Given the description of an element on the screen output the (x, y) to click on. 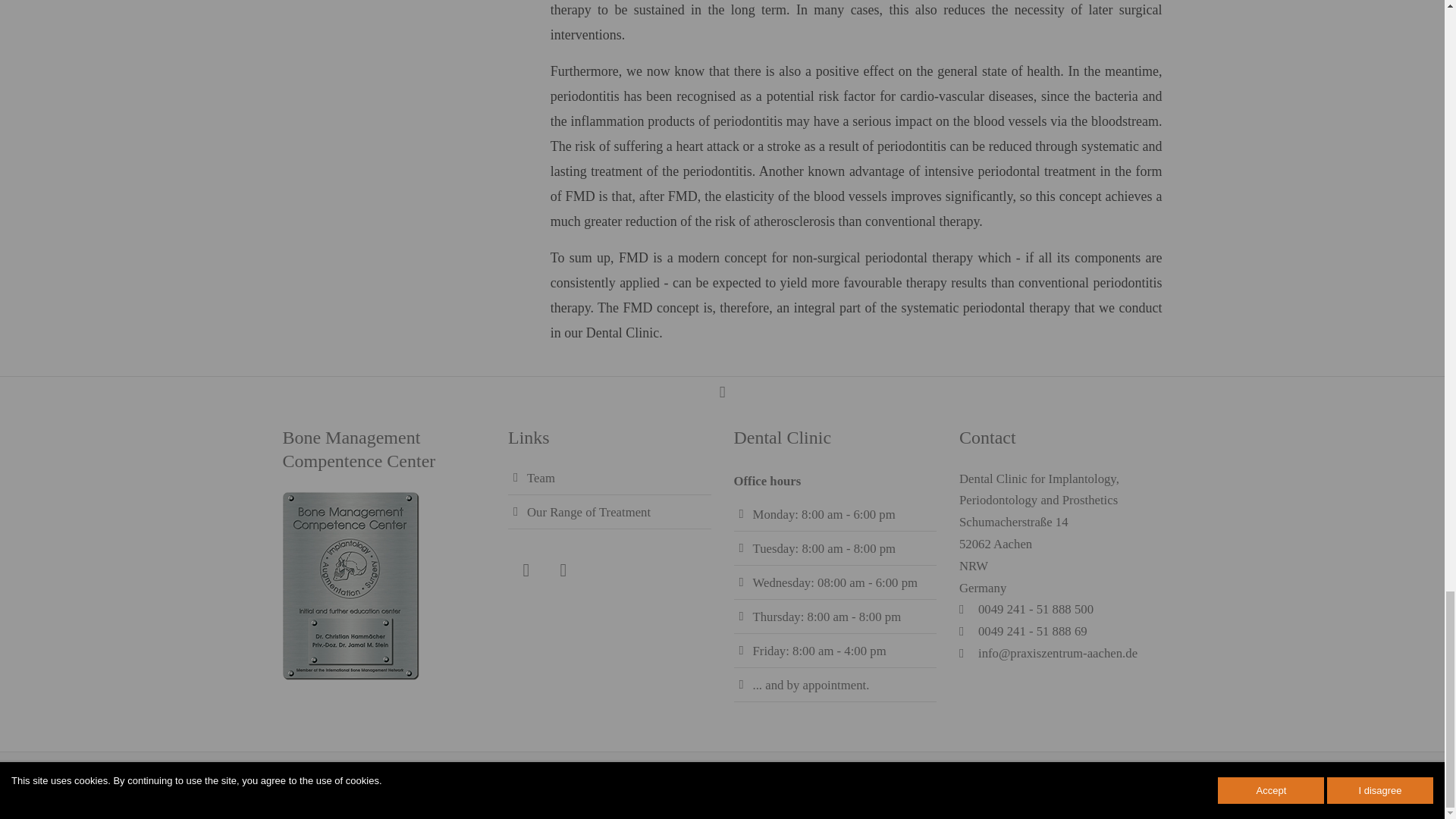
Privacy Policy (1124, 780)
Team (540, 477)
Site Notice (1044, 780)
Our Range of Treatment (588, 512)
